Given the description of an element on the screen output the (x, y) to click on. 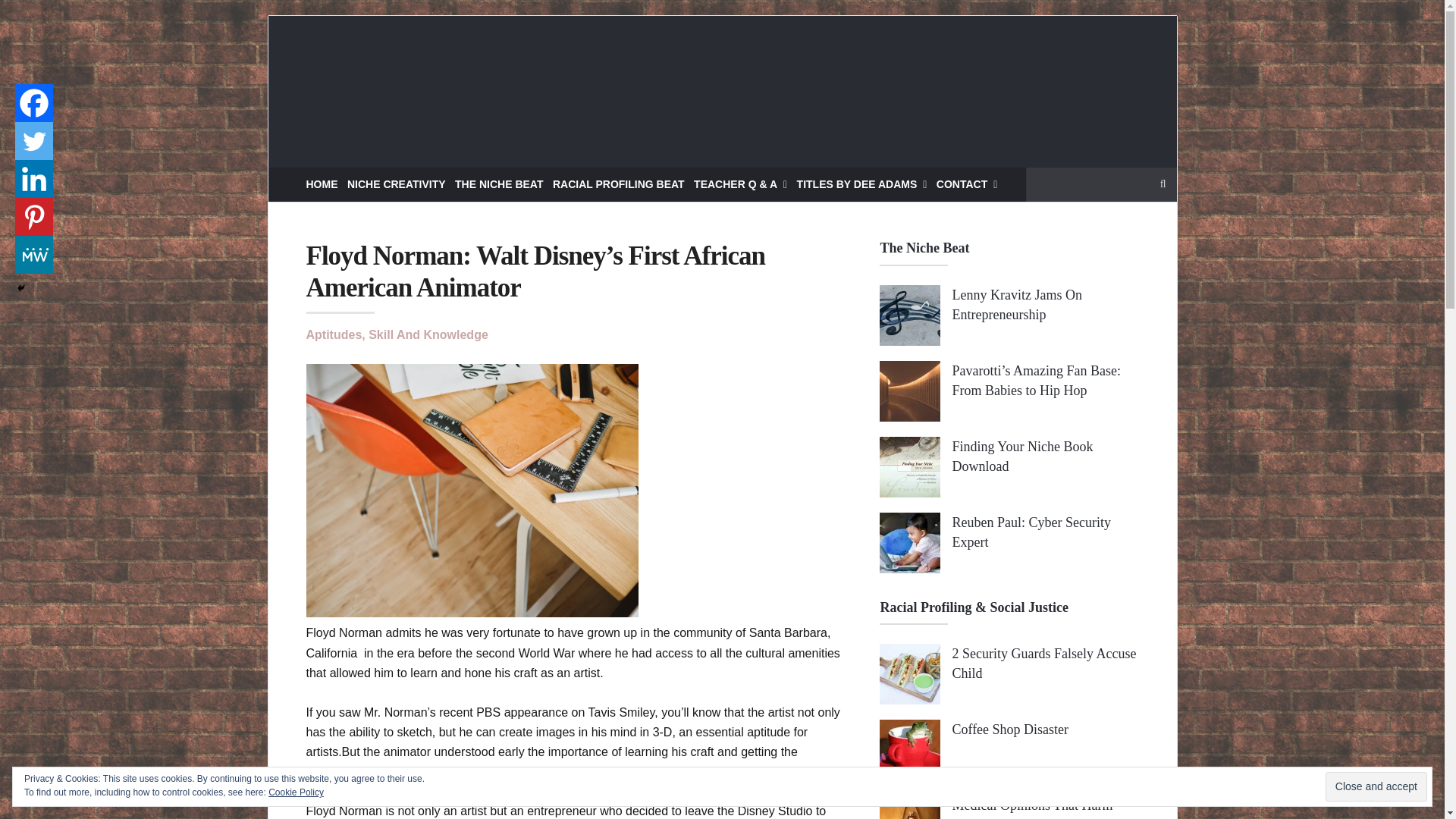
Facebook (33, 103)
HOME (321, 184)
MeWe (33, 254)
Pinterest (33, 216)
Hide (20, 287)
Coffee Shop Disaster (1010, 729)
Lenny Kravitz Jams On Entrepreneurship (1016, 304)
NICHE CREATIVITY (396, 184)
Reuben Paul: Cyber Security Expert (1030, 532)
CONTACT (966, 184)
Close and accept (1375, 786)
THE NICHE BEAT (498, 184)
Finding Your Niche Book Download (1022, 456)
TITLES BY DEE ADAMS (861, 184)
2 Security Guards Falsely Accuse Child (1043, 663)
